Given the description of an element on the screen output the (x, y) to click on. 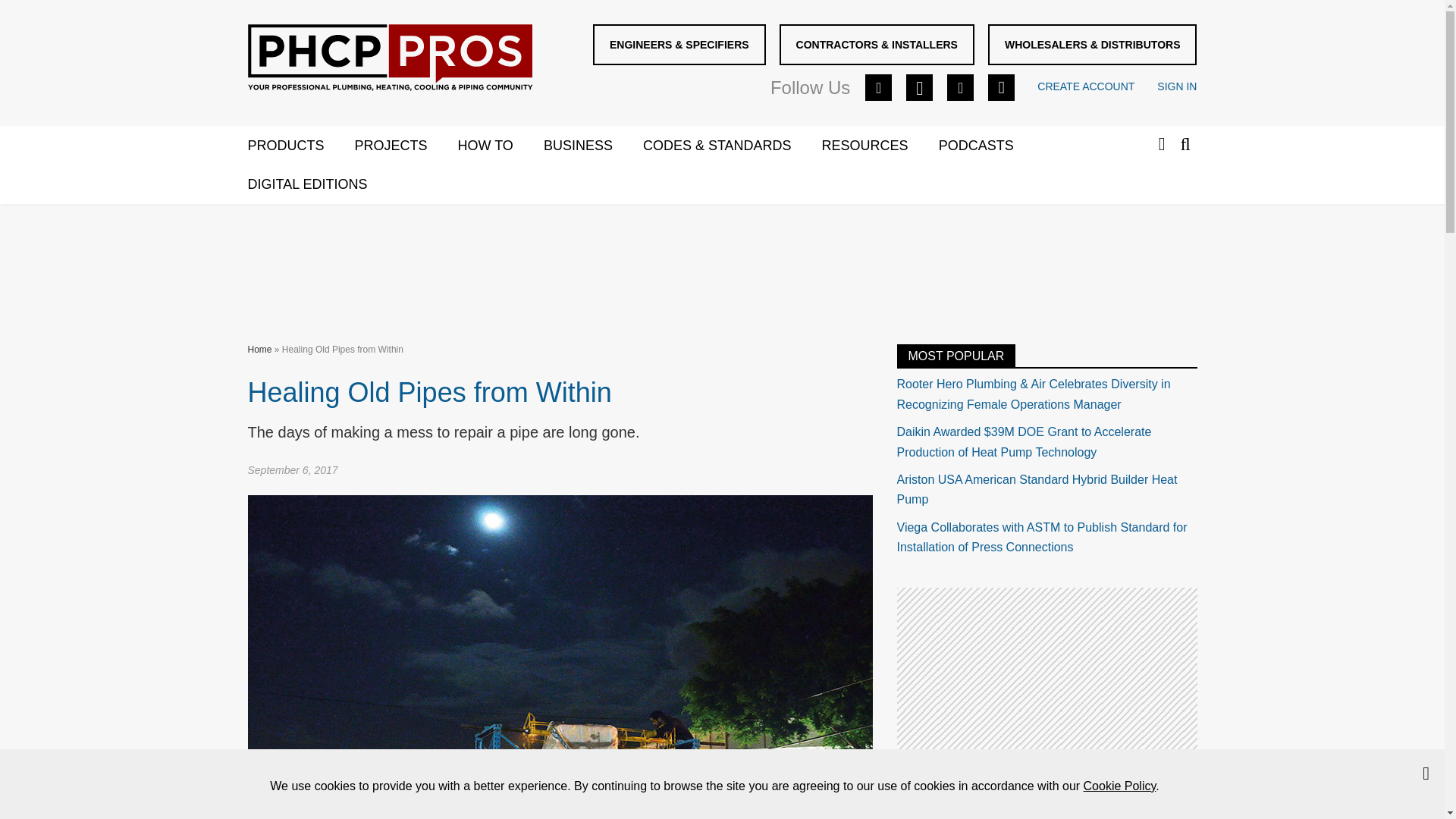
3rd party ad content (1046, 682)
3rd party ad content (721, 260)
logo (389, 57)
